Given the description of an element on the screen output the (x, y) to click on. 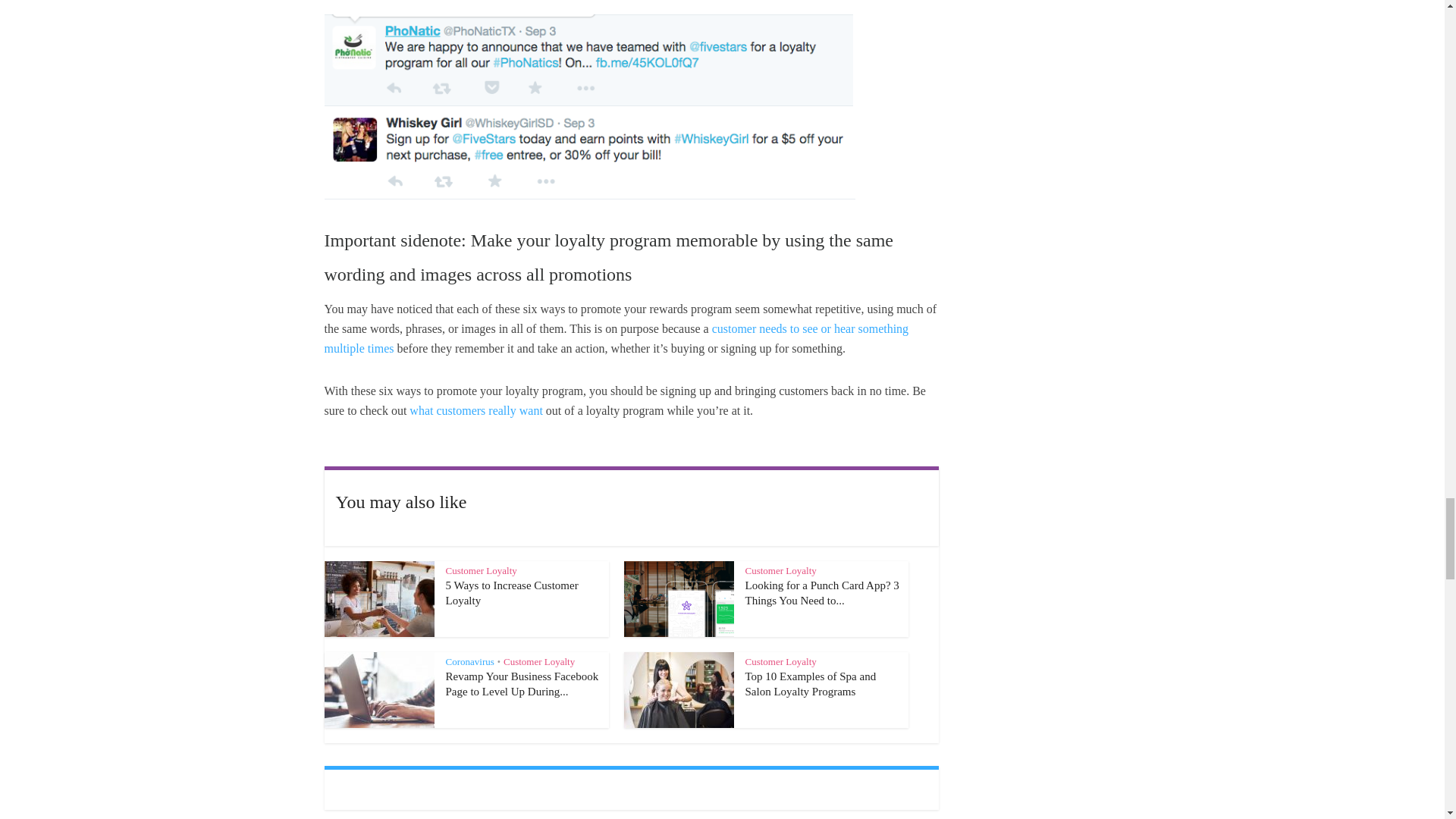
Top 10 Examples of Spa and Salon Loyalty Programs (810, 683)
5 Ways to Increase Customer Loyalty (511, 592)
Looking for a Punch Card App? 3 Things You Need to Know. (821, 592)
